Given the description of an element on the screen output the (x, y) to click on. 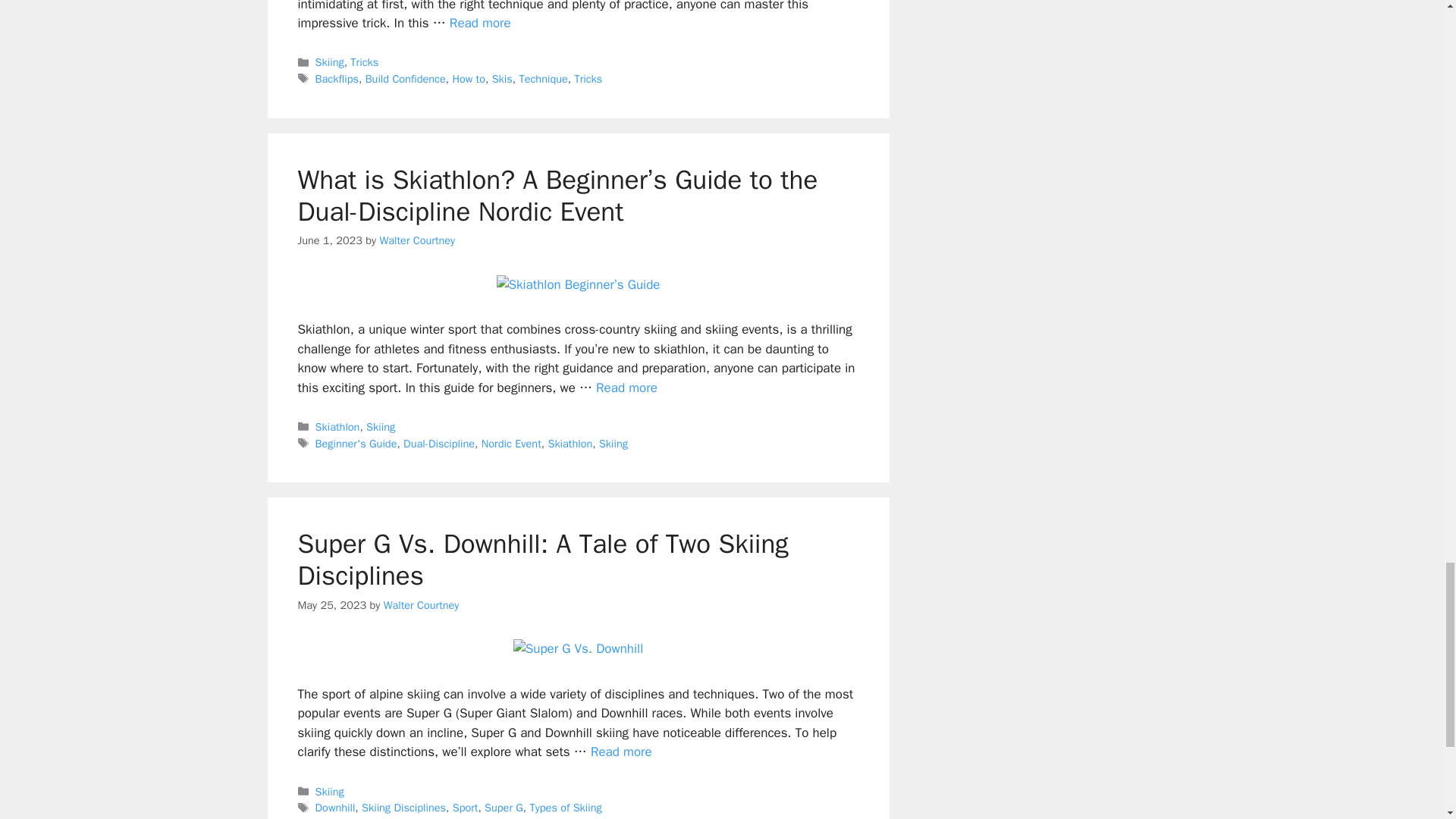
Technique (542, 78)
Skiing (329, 61)
Read more (480, 23)
Super G Vs. Downhill: A Tale of Two Skiing Disciplines (621, 751)
Backflips (336, 78)
Tricks (364, 61)
Build Confidence (405, 78)
How to (467, 78)
Skis (502, 78)
View all posts by Walter Courtney (416, 240)
View all posts by Walter Courtney (422, 604)
